Given the description of an element on the screen output the (x, y) to click on. 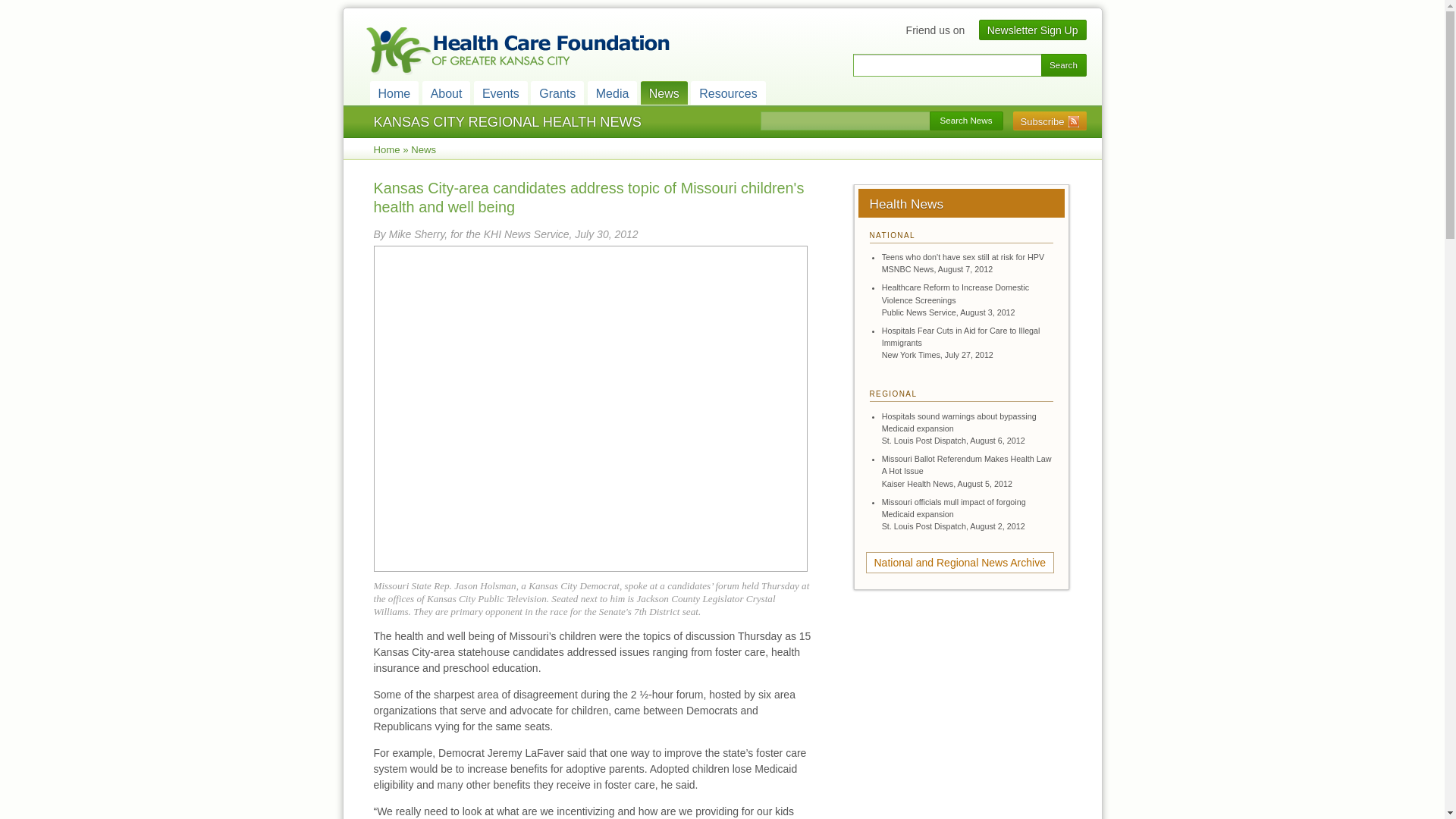
Enter the terms you wish to search for. (946, 65)
Newsletter Sign Up (1032, 30)
About (446, 92)
Events (500, 92)
Search (1063, 65)
Grants (557, 92)
Home (394, 92)
Search (1063, 65)
health care of greater kansas city (516, 51)
